Given the description of an element on the screen output the (x, y) to click on. 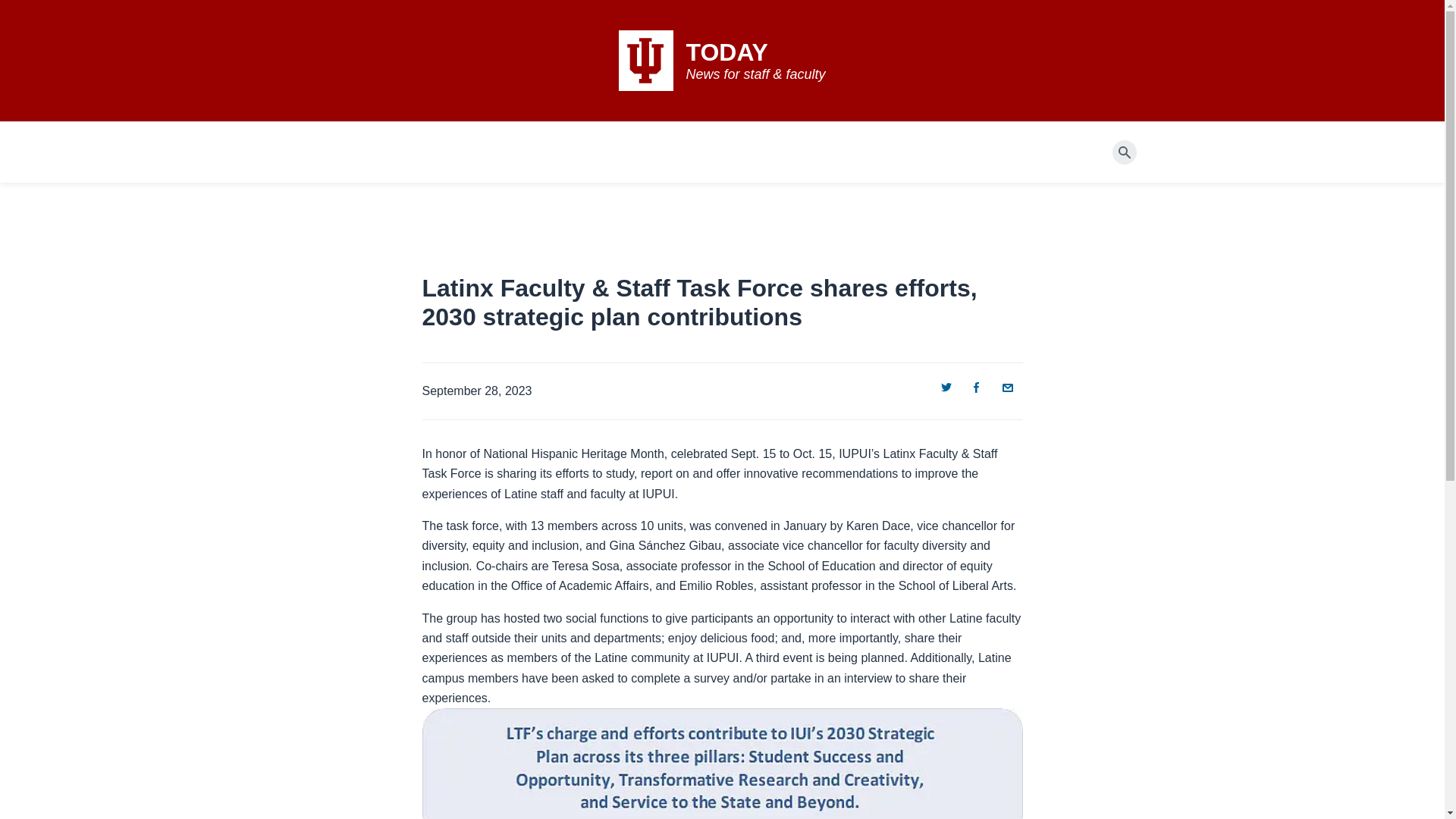
Search (1123, 152)
Share via Facebook (975, 387)
Latinx Task Force gfx (722, 763)
Share via Twitter (946, 387)
Share via Email (1006, 387)
